Given the description of an element on the screen output the (x, y) to click on. 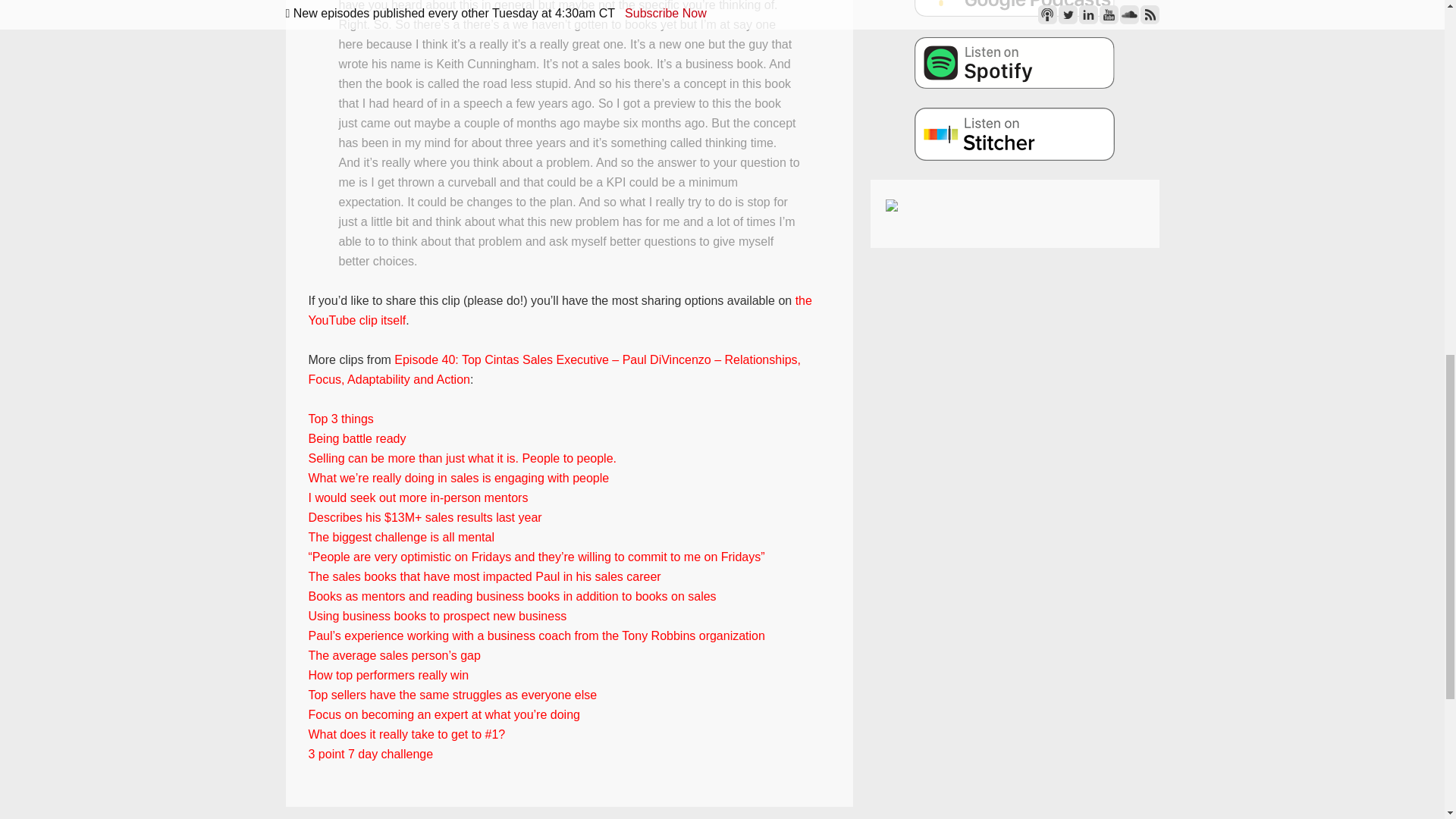
How top performers really win (387, 675)
Using business books to prospect new business (436, 615)
Top sellers have the same struggles as everyone else (451, 694)
3 point 7 day challenge (369, 753)
Top 3 things (339, 418)
I would seek out more in-person mentors (417, 497)
Sales Success Stories on Spotify (1014, 62)
Being battle ready (356, 438)
Selling can be more than just what it is. People to people. (461, 458)
Sales Success Stories on Stitcher (1014, 133)
The biggest challenge is all mental (400, 536)
Sales Success Stories on Google Podcasts (1014, 8)
the YouTube clip itself (558, 310)
